Given the description of an element on the screen output the (x, y) to click on. 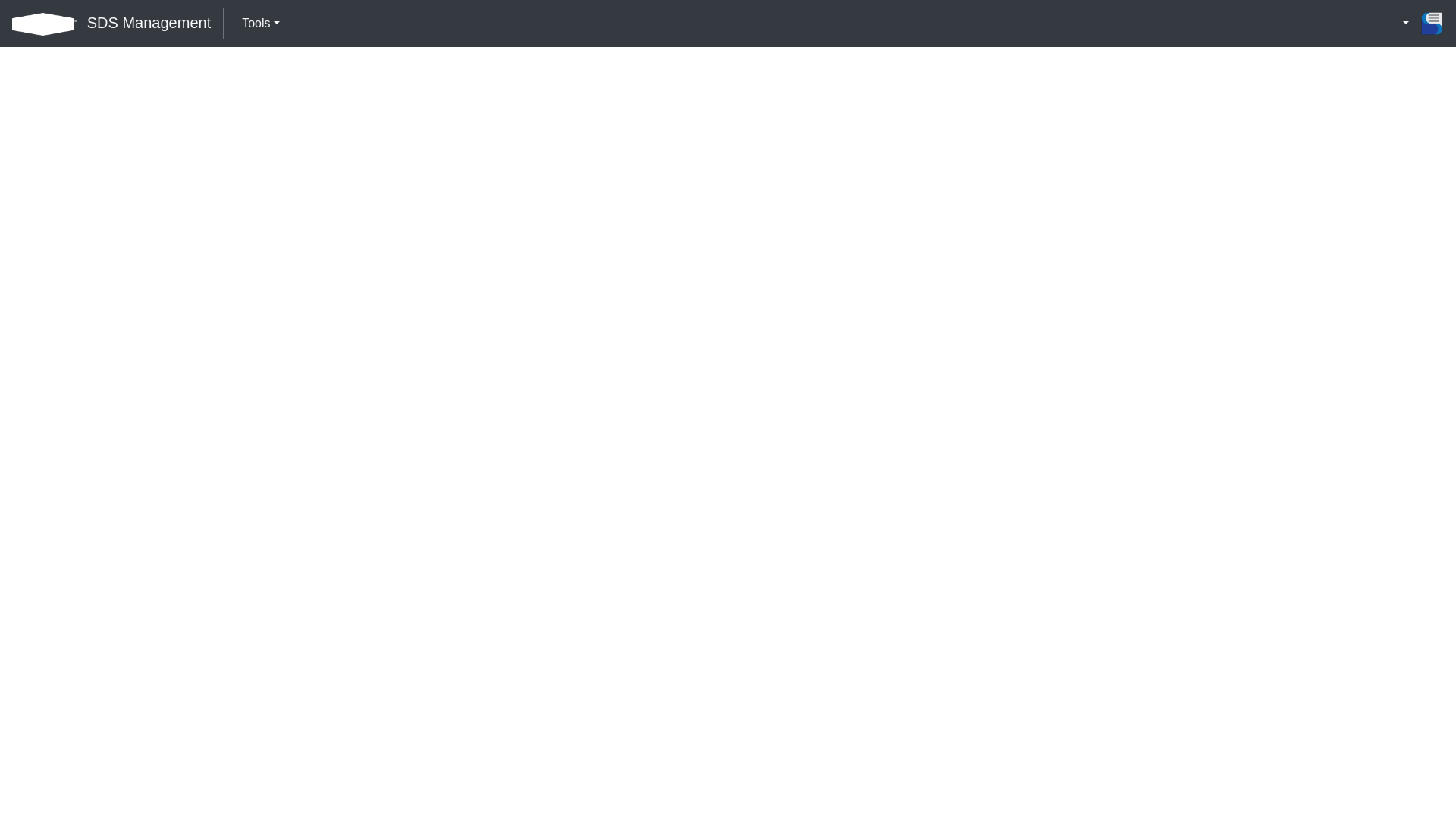
Tools Element type: text (260, 23)
SDS Management Element type: text (148, 22)
2.14 Element type: hover (1432, 23)
